Given the description of an element on the screen output the (x, y) to click on. 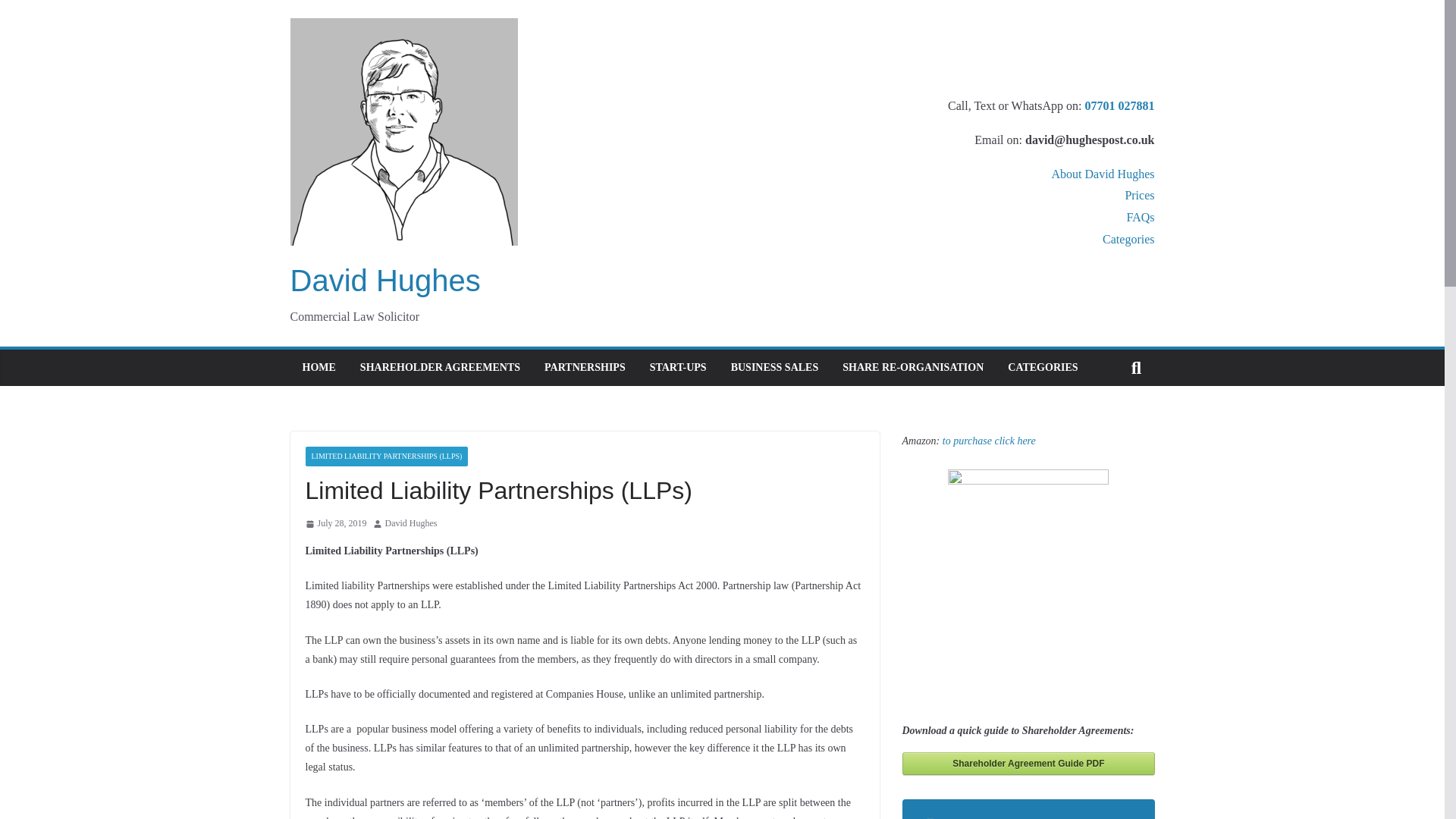
HOME (317, 367)
SHAREHOLDER AGREEMENTS (439, 367)
David Hughes (411, 523)
David Hughes (411, 523)
About David Hughes (1102, 173)
David Hughes (384, 280)
Shareholder Agreement Guide PDF (1029, 763)
to purchase click here (988, 440)
2:20 pm (335, 523)
Categories (1128, 238)
PARTNERSHIPS (585, 367)
July 28, 2019 (335, 523)
David Hughes (384, 280)
SHARE RE-ORGANISATION (913, 367)
Prices (1139, 195)
